Given the description of an element on the screen output the (x, y) to click on. 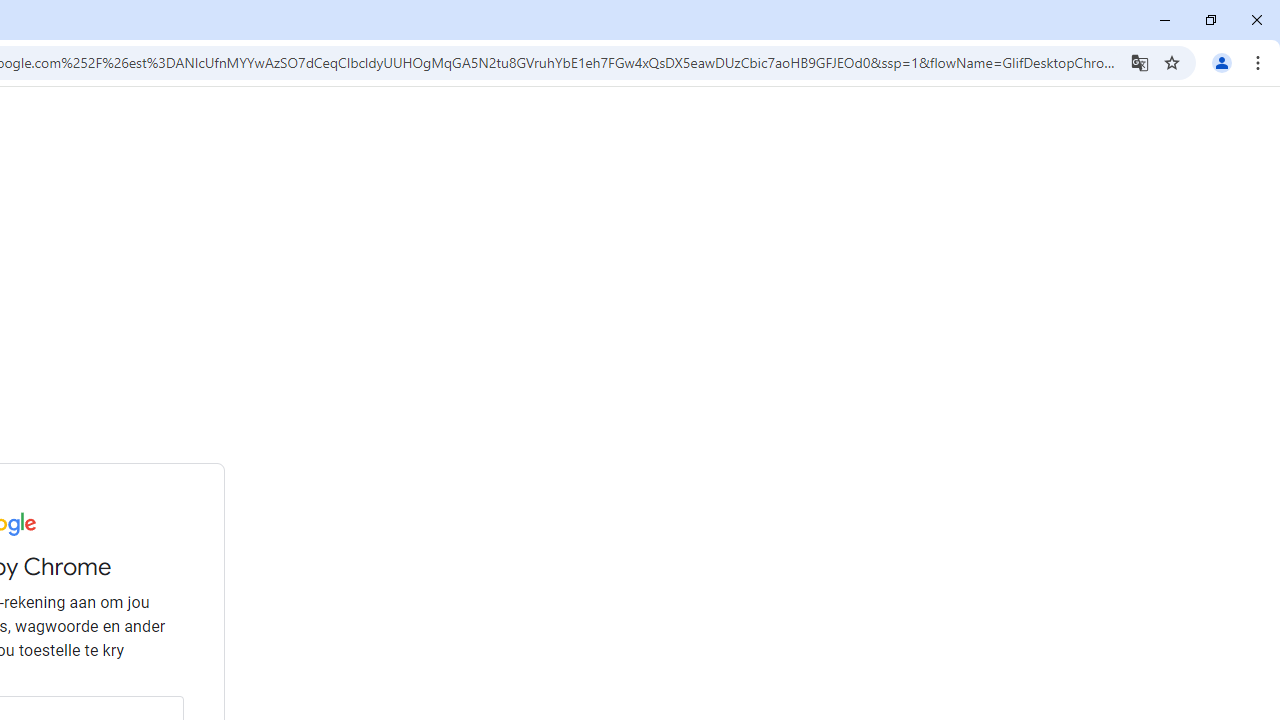
Translate this page (1139, 62)
